Given the description of an element on the screen output the (x, y) to click on. 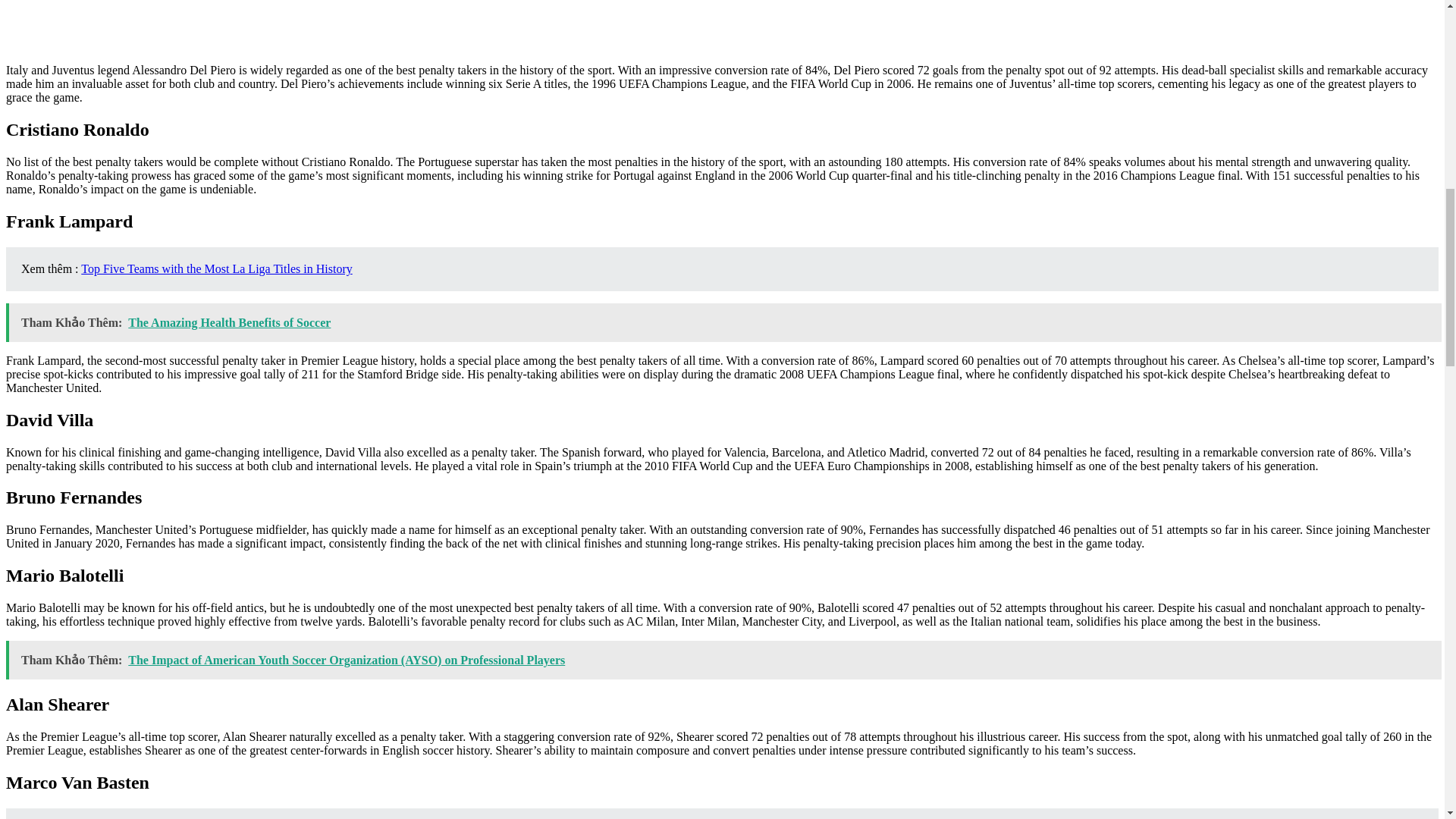
Top Five Teams with the Most La Liga Titles in History (216, 268)
